Given the description of an element on the screen output the (x, y) to click on. 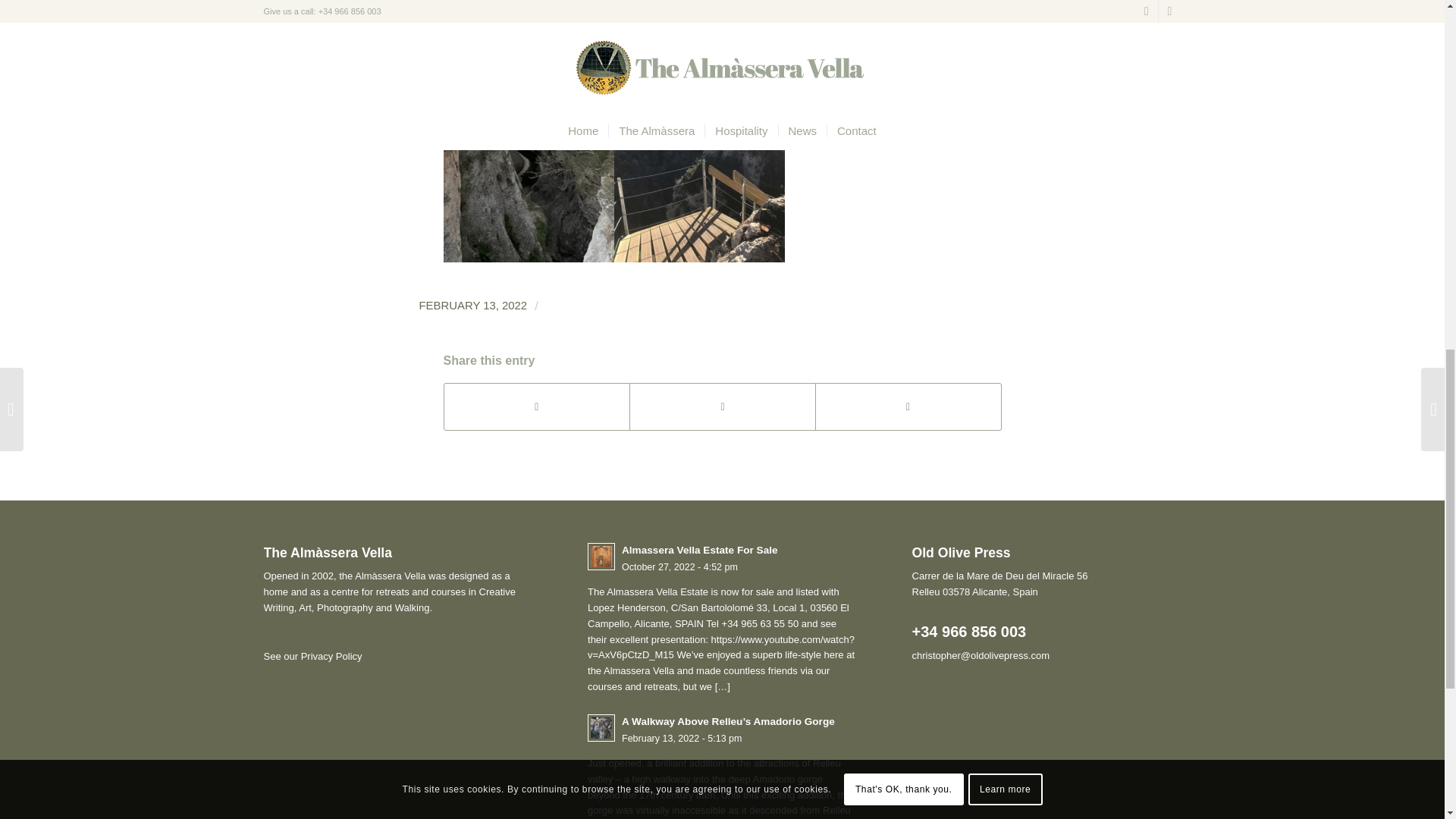
See our Privacy Policy (722, 557)
Almassera Vella Estate For Sale (312, 655)
